Given the description of an element on the screen output the (x, y) to click on. 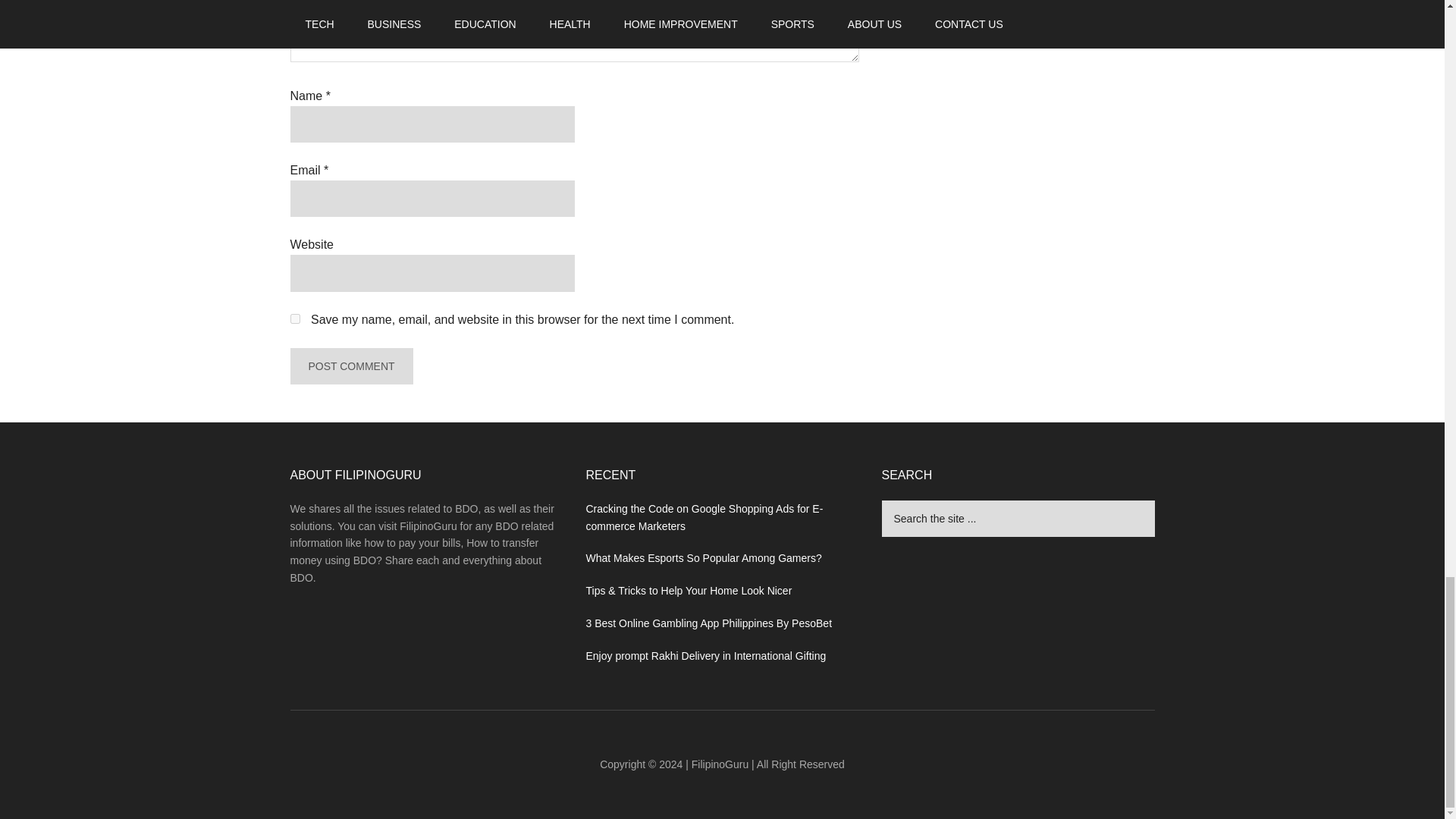
yes (294, 318)
Post Comment (350, 366)
Post Comment (350, 366)
